Given the description of an element on the screen output the (x, y) to click on. 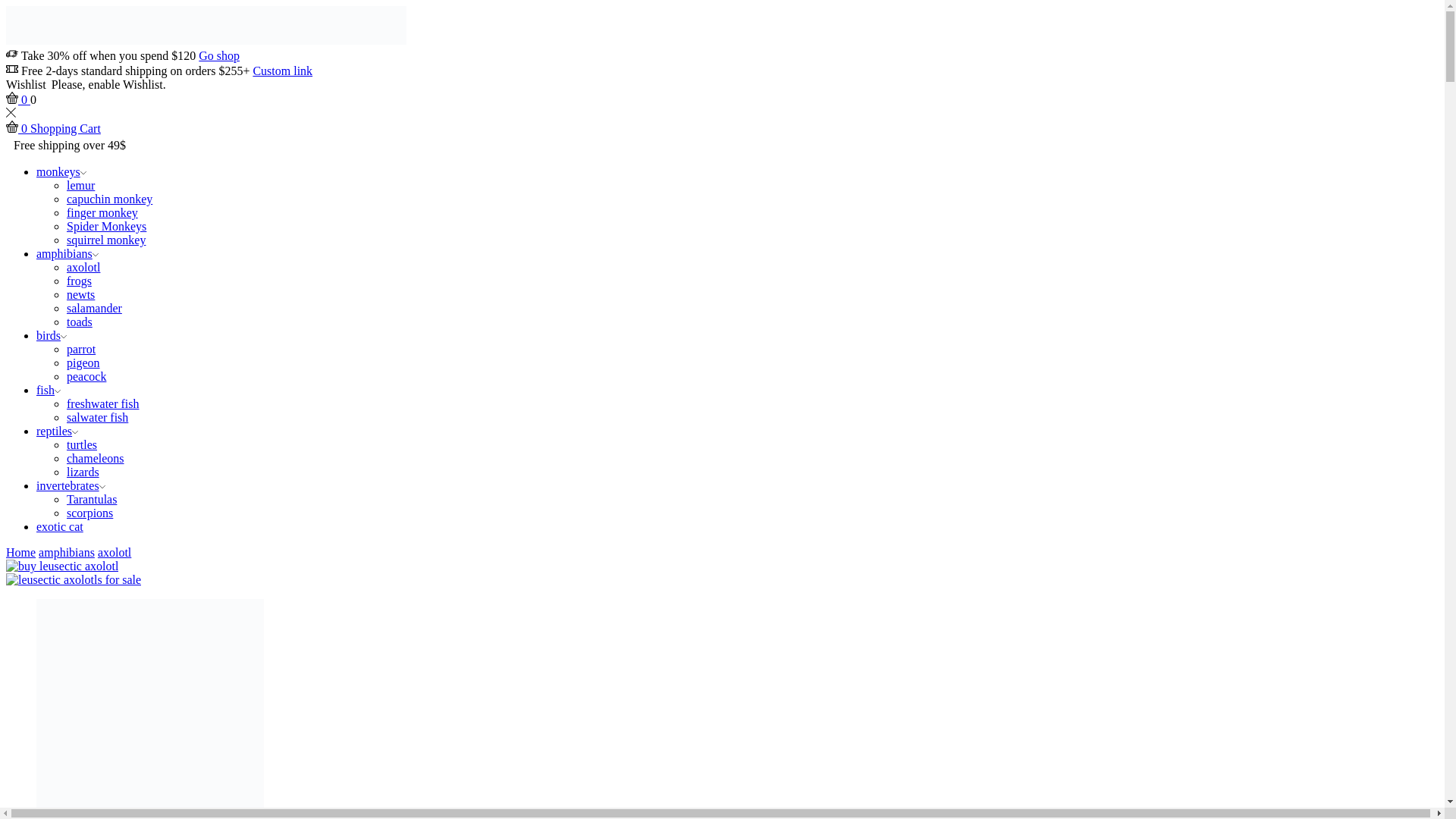
salamander (94, 308)
exotic cat (59, 526)
reptiles (57, 431)
lizards (82, 472)
peacock (86, 376)
turtles (81, 444)
axolotl (83, 267)
monkeys (60, 171)
freshwater fish (102, 403)
squirrel monkey (105, 239)
